Given the description of an element on the screen output the (x, y) to click on. 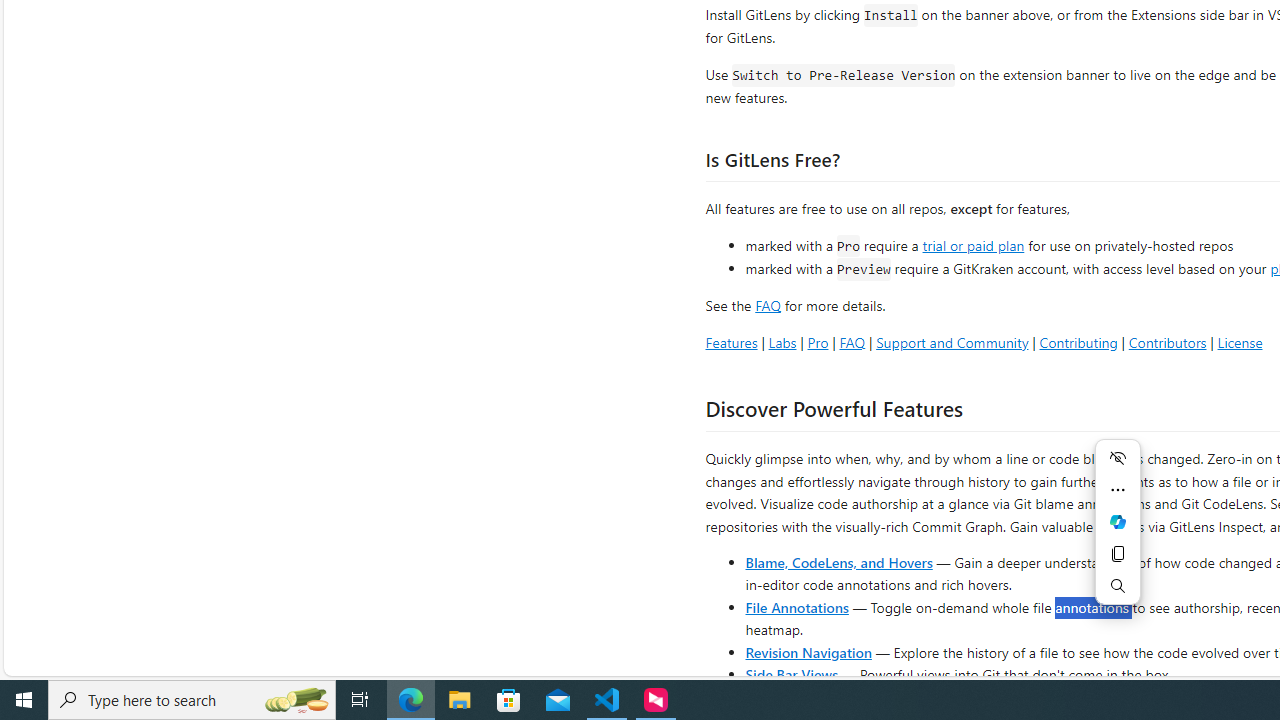
Contributors (1167, 341)
Contributing (1078, 341)
Pro (817, 341)
More actions (1117, 489)
Blame, CodeLens, and Hovers (838, 561)
